Given the description of an element on the screen output the (x, y) to click on. 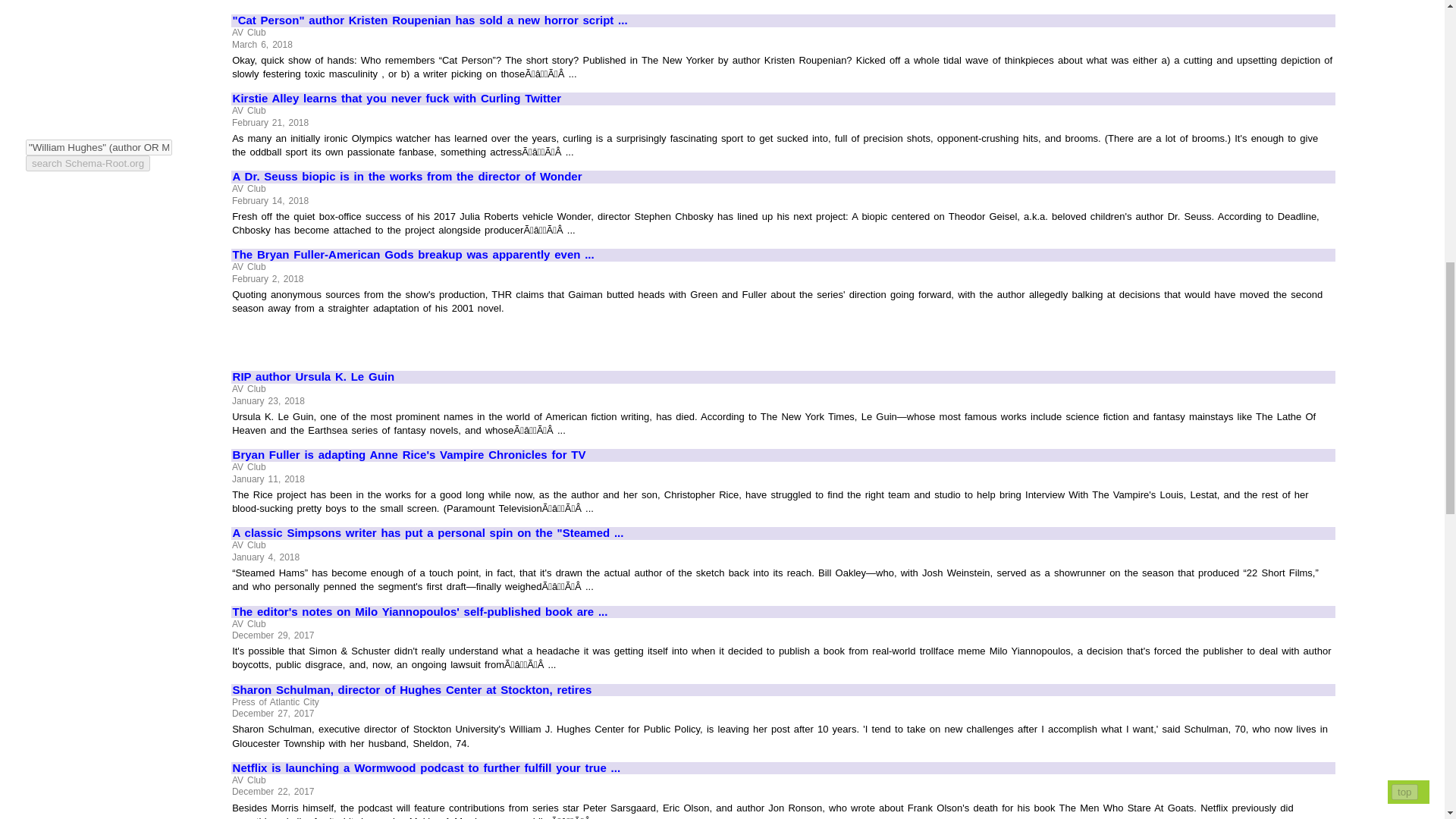
RIP author Ursula K. Le Guin (782, 377)
search Schema-Root.org (87, 163)
search this site for William Hughes  (87, 163)
